Given the description of an element on the screen output the (x, y) to click on. 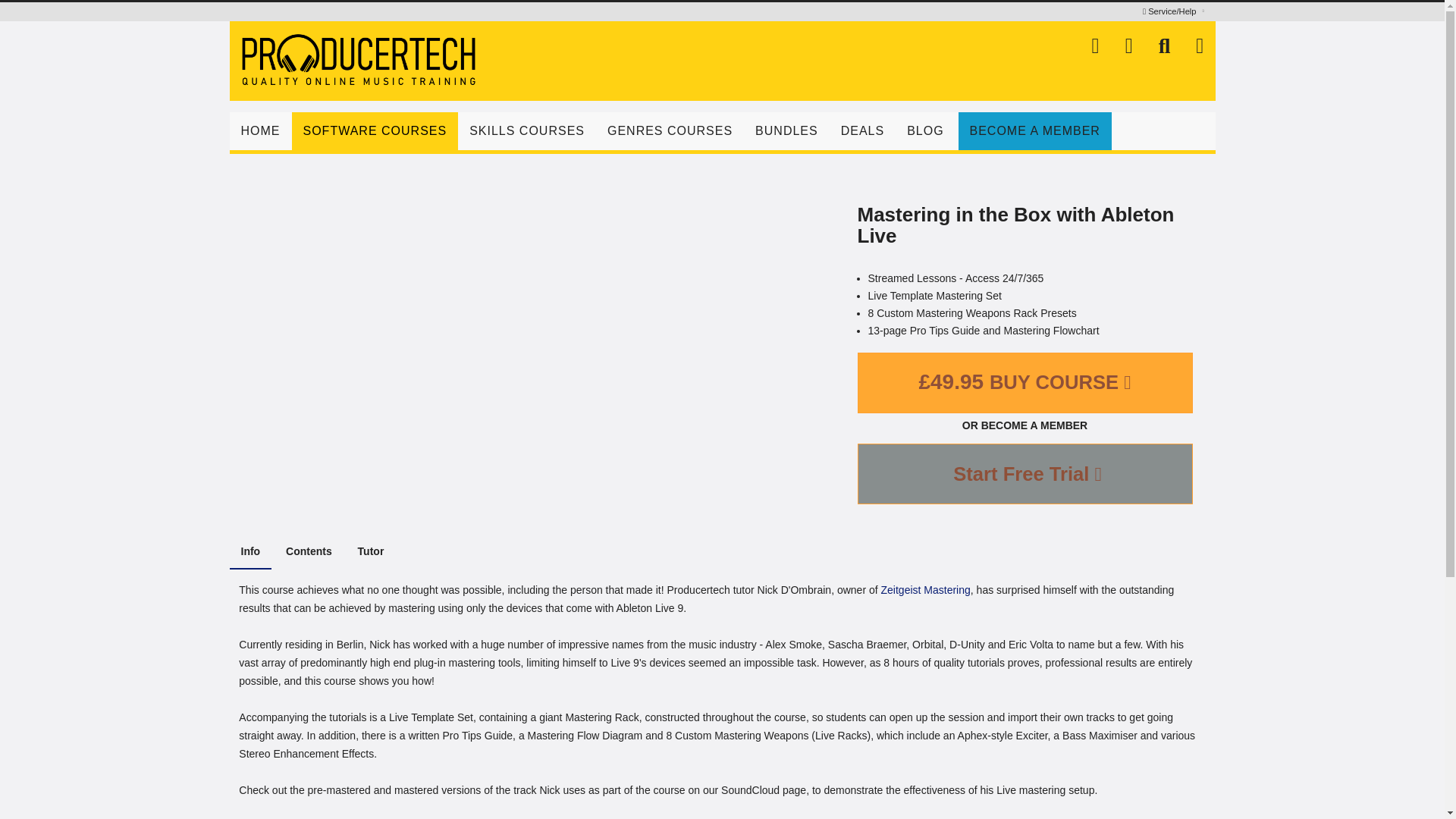
HOME (259, 130)
SKILLS COURSES (526, 130)
Producertech - Switch to homepage (385, 59)
BLOG (925, 130)
SOFTWARE COURSES (374, 130)
BUNDLES (786, 130)
Software Courses (374, 130)
DEALS (862, 130)
HOME (259, 130)
SKILLS COURSES (526, 130)
SOFTWARE COURSES (374, 130)
BECOME A MEMBER (1035, 130)
GENRES COURSES (669, 130)
